Given the description of an element on the screen output the (x, y) to click on. 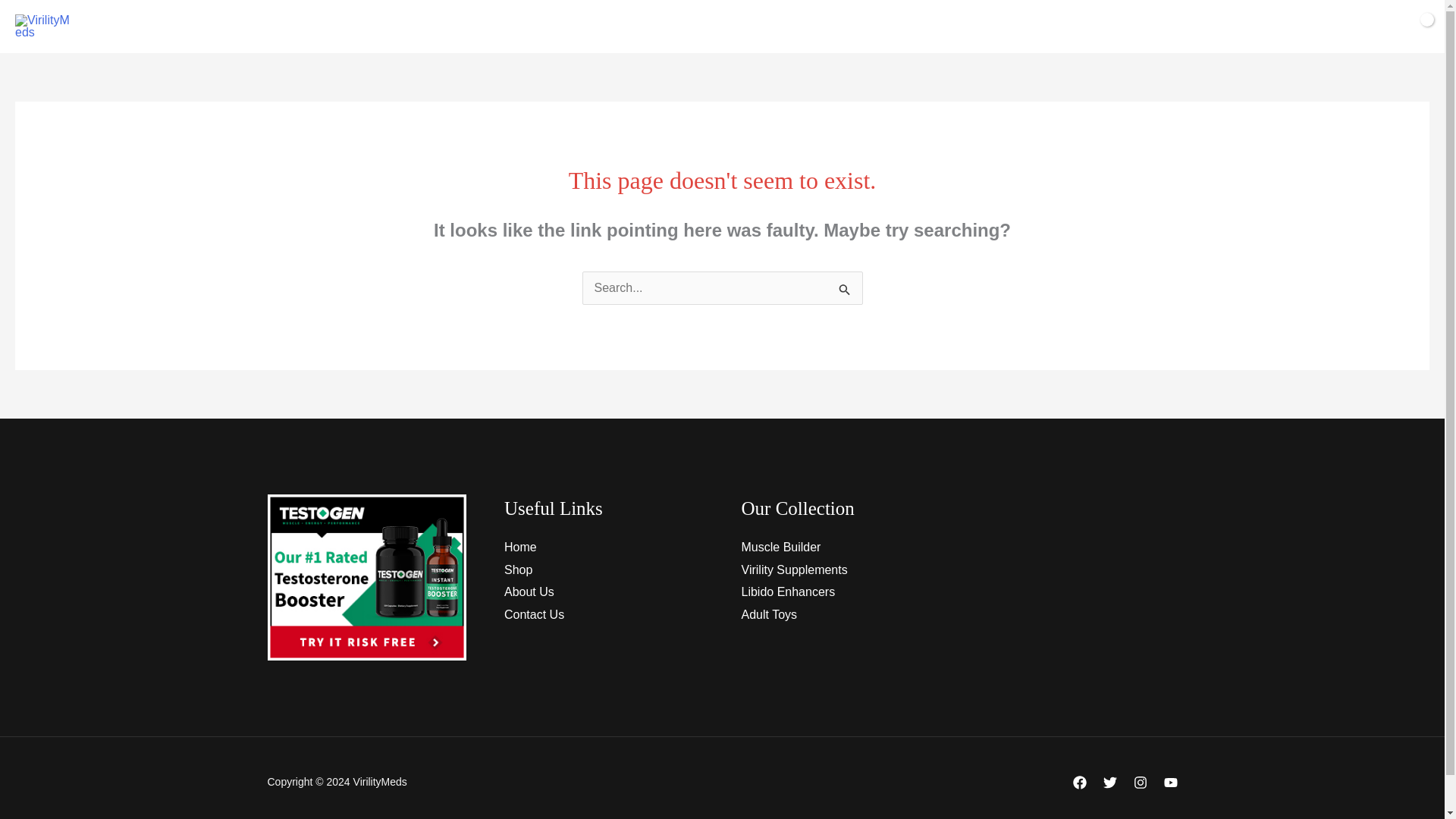
About Us (528, 591)
Libido Enhancers (788, 591)
CONTACT (812, 26)
Muscle Builder (781, 546)
HOME (563, 26)
Contact Us (533, 614)
PRODUCTS (639, 26)
Adult Toys (769, 614)
BLOG (882, 26)
Shop (517, 569)
